Given the description of an element on the screen output the (x, y) to click on. 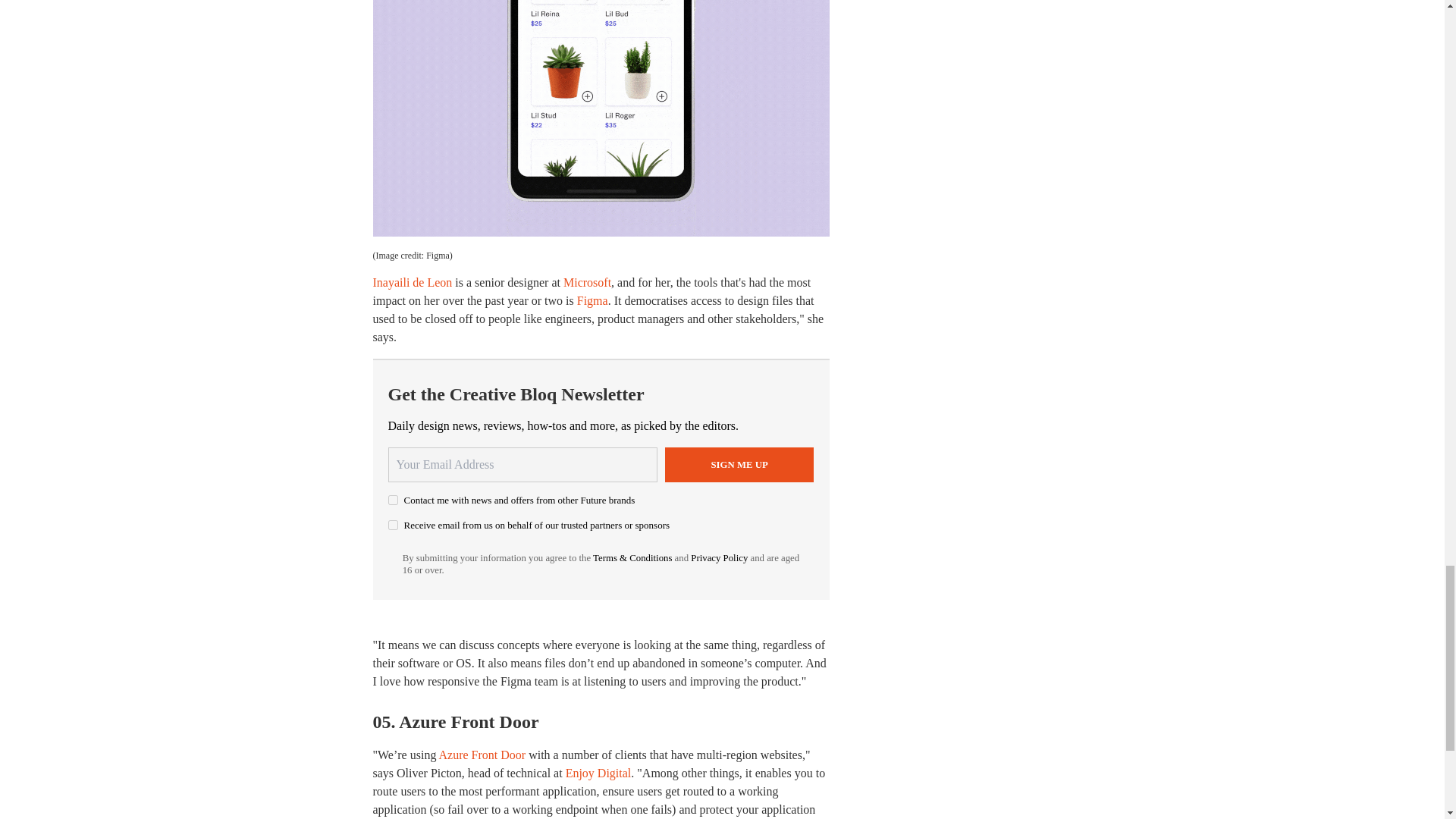
on (392, 500)
Sign me up (739, 464)
on (392, 524)
